Given the description of an element on the screen output the (x, y) to click on. 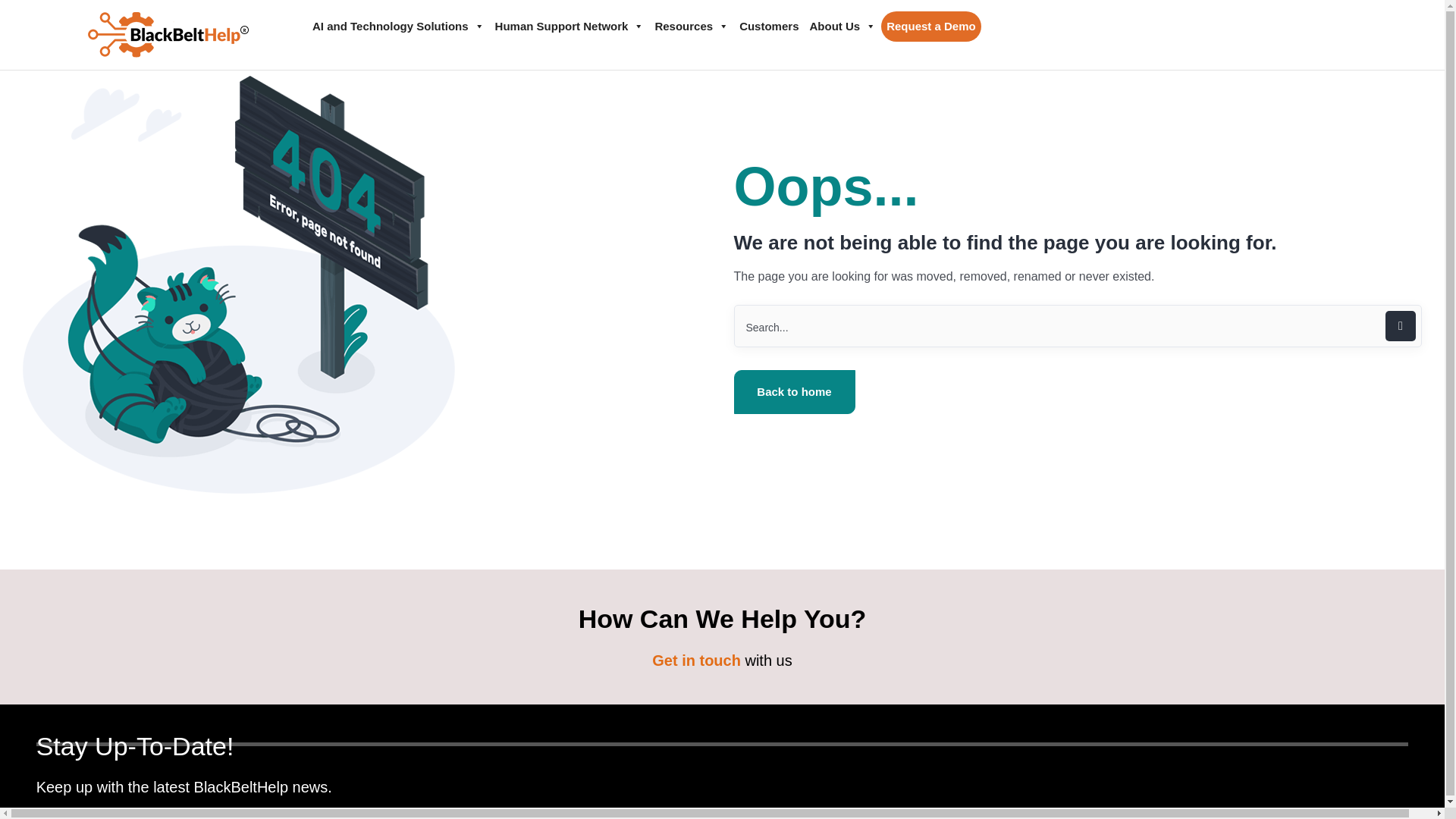
Search (1077, 325)
Get in touch (696, 660)
Human Support Network (569, 26)
Back to home (794, 392)
Customers (768, 26)
About Us (841, 26)
Request a Demo (930, 26)
AI and Technology Solutions (398, 26)
Resources (691, 26)
